Given the description of an element on the screen output the (x, y) to click on. 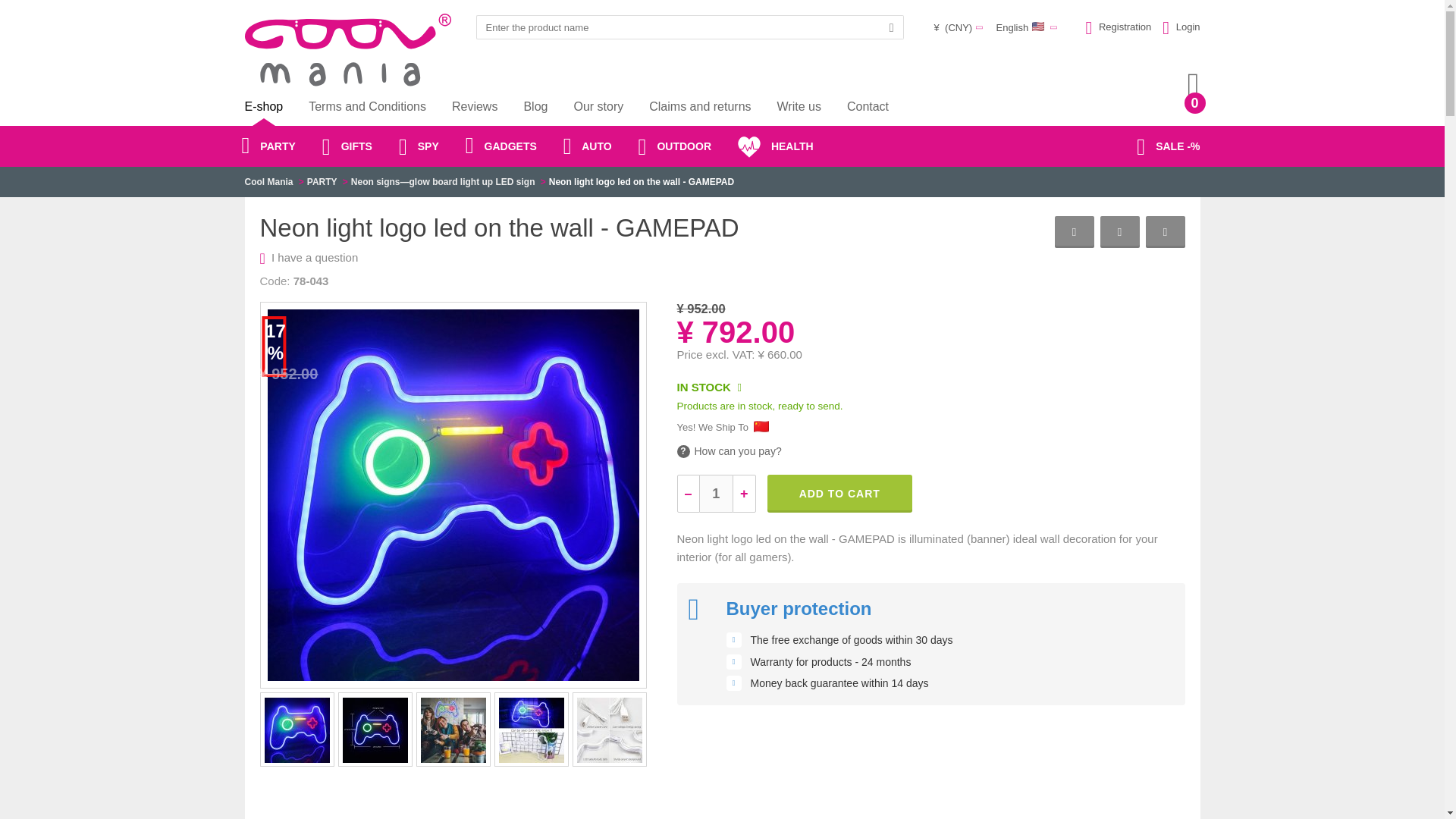
Cool Mania (268, 181)
Add to cart (839, 493)
PARTY (322, 181)
I have a question (314, 256)
Add to cart (839, 493)
How can you pay? (728, 451)
